Given the description of an element on the screen output the (x, y) to click on. 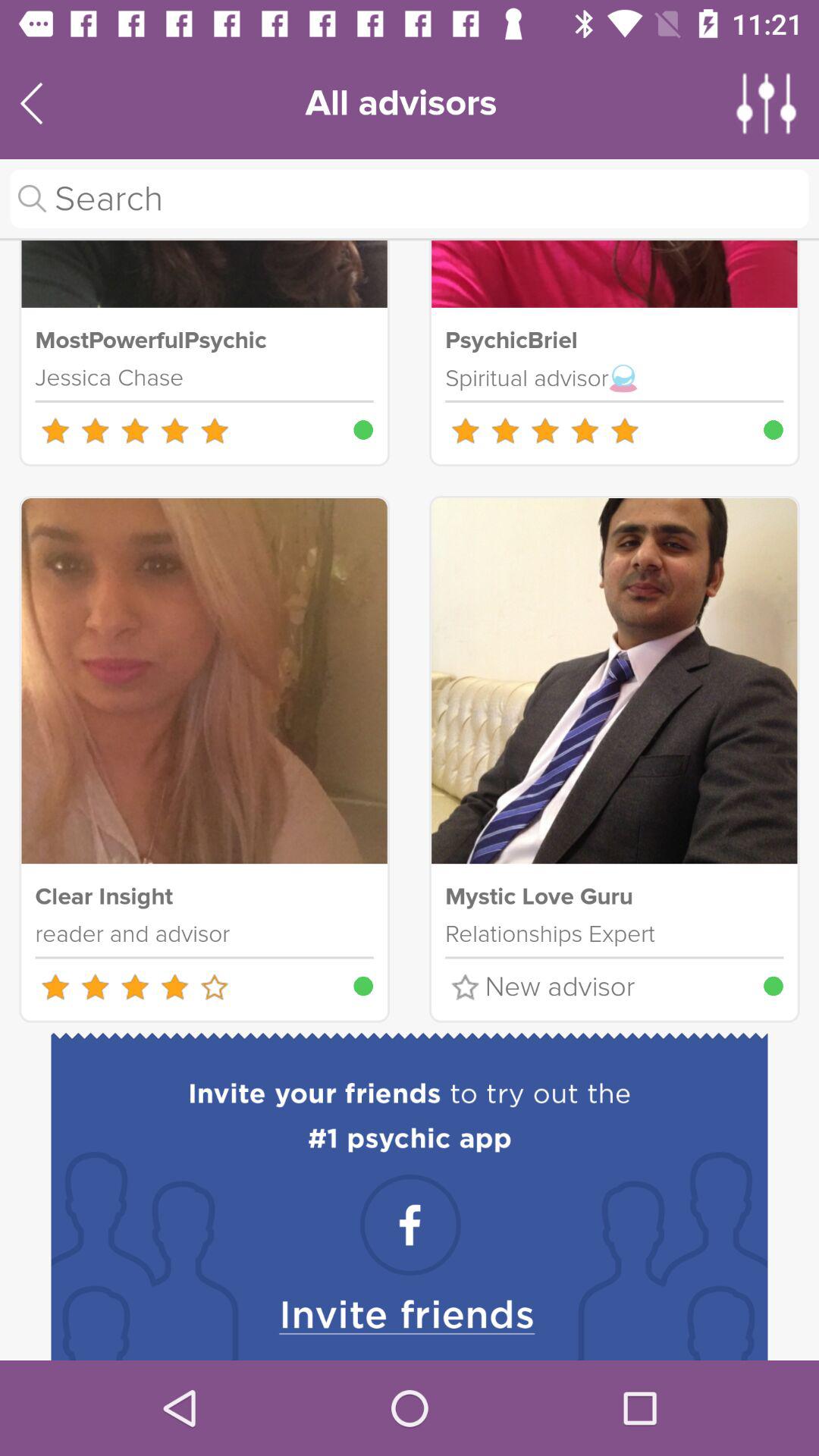
press icon next to the all advisors icon (767, 103)
